Given the description of an element on the screen output the (x, y) to click on. 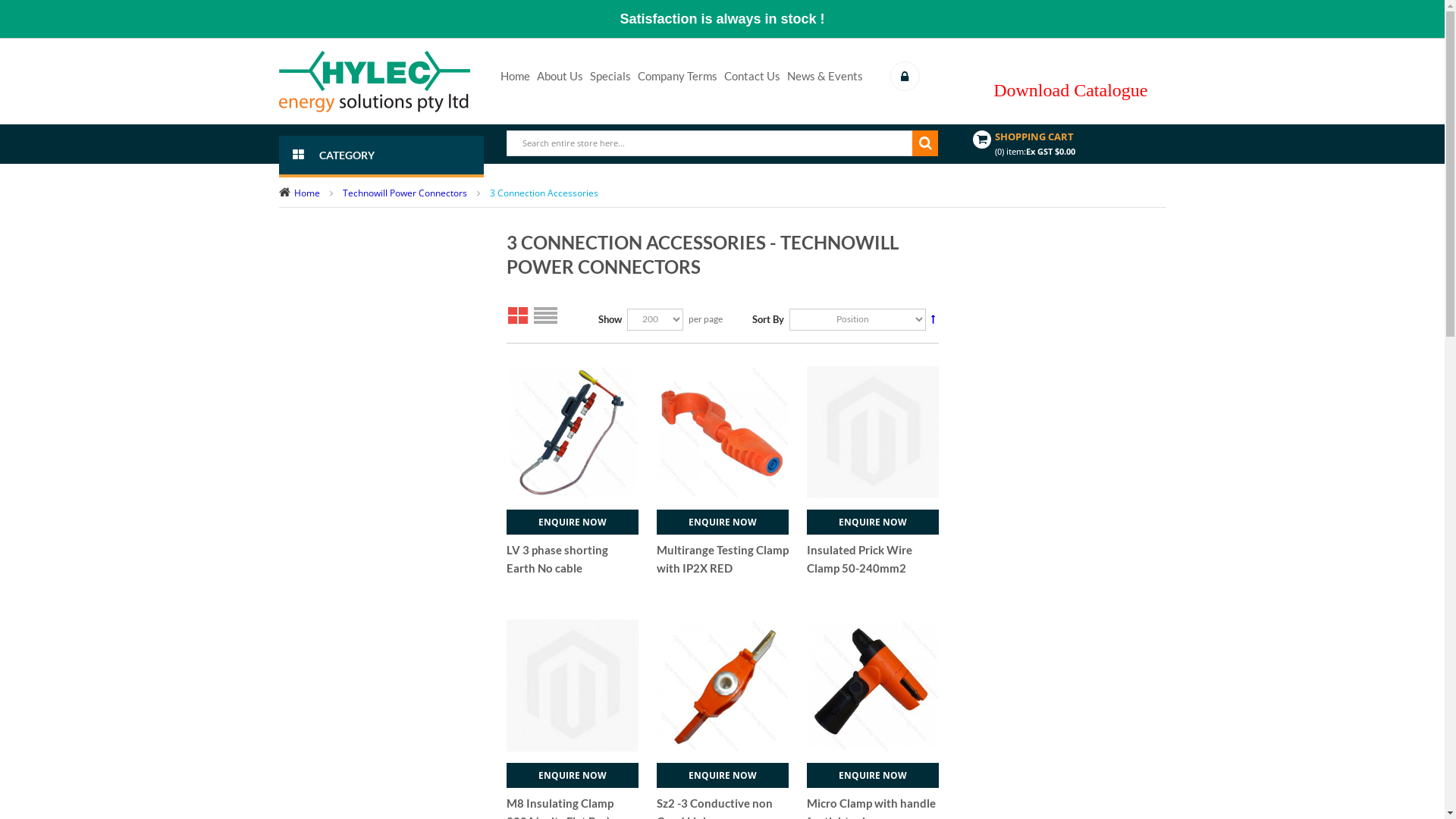
Hylec Energy Solutions Element type: hover (374, 81)
Search Element type: hover (925, 143)
LV 3 phase shorting Earth No cable Element type: hover (572, 432)
Micro Clamp with handle for tightening Element type: hover (872, 684)
Multirange Testing Clamp with IP2X RED Element type: text (722, 558)
M8 Insulating Clamp 200A(suits Flat Bar) Element type: hover (572, 684)
Multirange Testing Clamp with IP2X RED Element type: hover (722, 432)
ENQUIRE NOW Element type: text (572, 521)
Sz2 -3 Conductive non Cond Link Element type: hover (722, 684)
Insulated Prick Wire Clamp 50-240mm2 Element type: hover (872, 432)
Contact Us Element type: text (754, 76)
Home Element type: text (307, 192)
Set Descending Direction Element type: hover (932, 318)
Specials Element type: text (613, 76)
Home Element type: text (518, 76)
Insulated Prick Wire Clamp 50-240mm2 Element type: text (859, 558)
News & Events Element type: text (824, 76)
ENQUIRE NOW Element type: text (722, 521)
Download Catalogue Element type: text (1070, 90)
About Us Element type: text (562, 76)
(0) item:Ex GST $0.00 Element type: text (1034, 150)
ENQUIRE NOW Element type: text (872, 774)
ENQUIRE NOW Element type: text (722, 774)
LIST Element type: text (545, 315)
ENQUIRE NOW Element type: text (572, 774)
Technowill Power Connectors Element type: text (405, 192)
Company Terms Element type: text (680, 76)
LV 3 phase shorting Earth No cable Element type: text (557, 558)
ENQUIRE NOW Element type: text (872, 521)
